Given the description of an element on the screen output the (x, y) to click on. 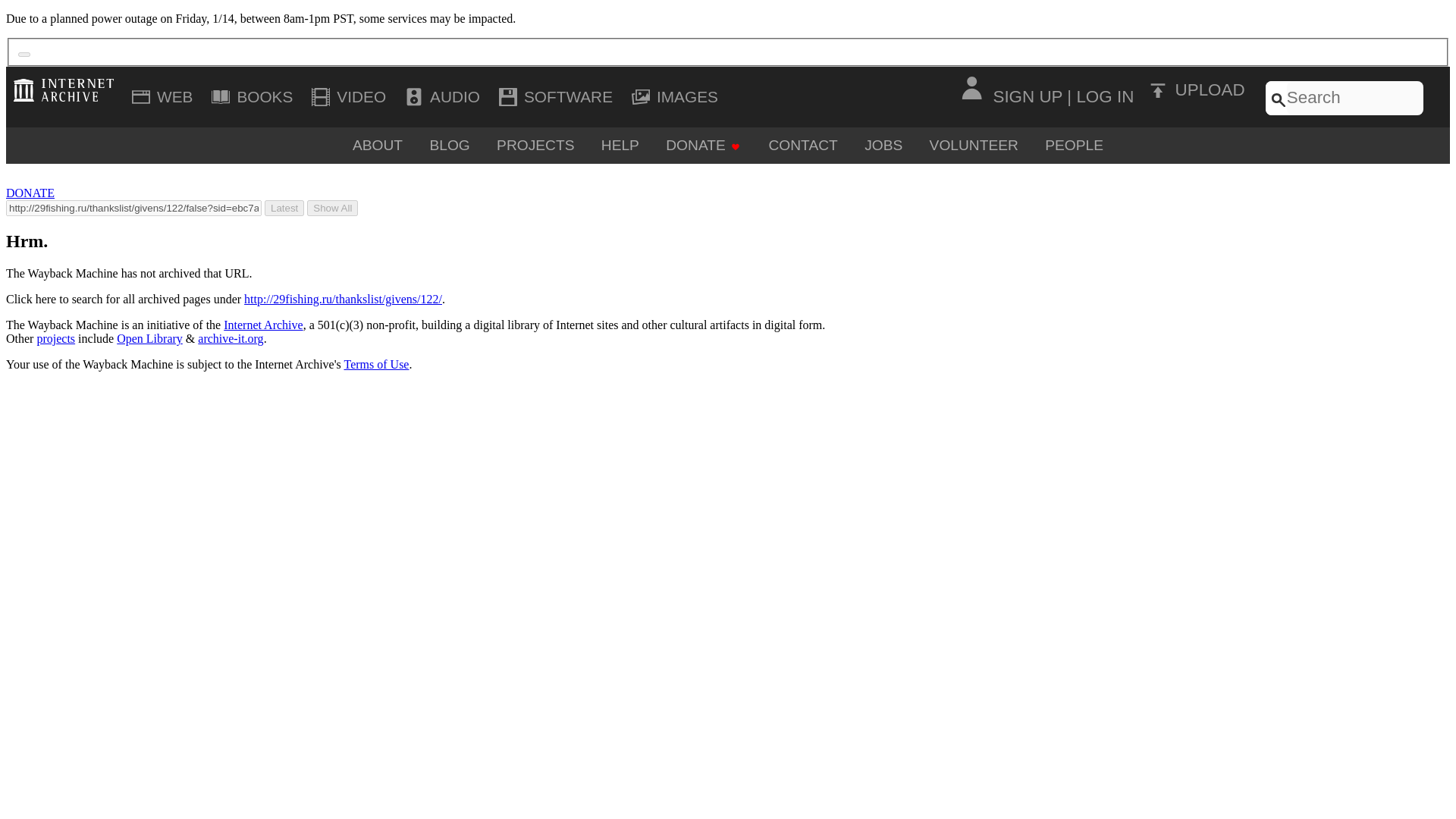
Expand video menu (350, 96)
BOOKS (254, 96)
Expand web menu (165, 96)
SOFTWARE (558, 96)
IMAGES (677, 96)
SIGN UP (1027, 96)
Go home (66, 89)
LOG IN (1104, 96)
Expand images menu (677, 96)
Expand audio menu (444, 96)
Expand software menu (558, 96)
AUDIO (444, 96)
DONATE ICON AN ILLUSTRATION OF A HEART SHAPE (735, 146)
Expand texts menu (254, 96)
